Given the description of an element on the screen output the (x, y) to click on. 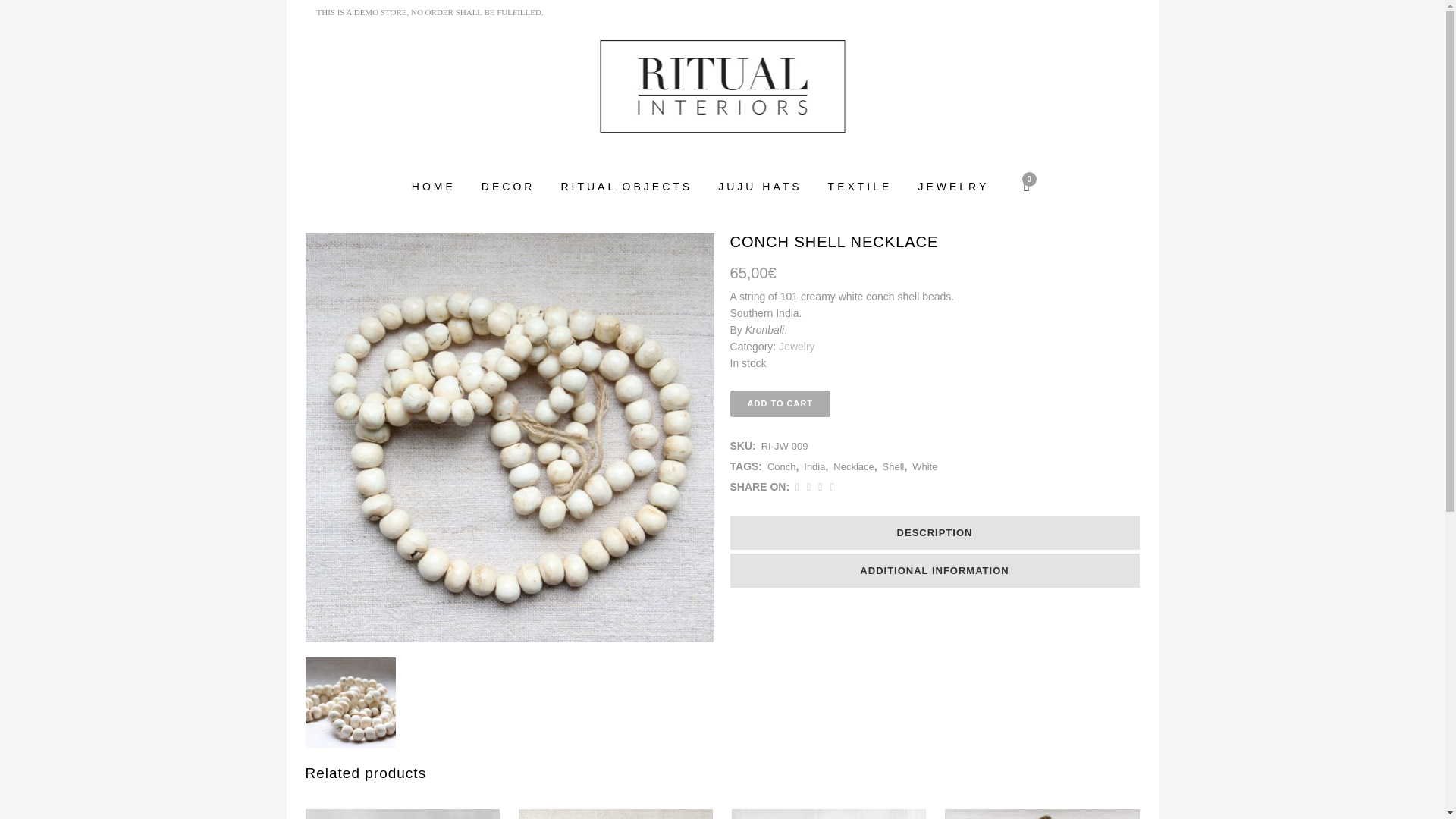
TEXTILE (860, 186)
White (924, 466)
JUJU HATS (758, 186)
ADD TO CART (780, 403)
India (814, 466)
Shell (893, 466)
Necklace (852, 466)
JEWELRY (952, 186)
Jewelry (795, 346)
conch-shell-necklace-ritual-interiors (350, 702)
RITUAL OBJECTS (625, 186)
Conch (781, 466)
